Given the description of an element on the screen output the (x, y) to click on. 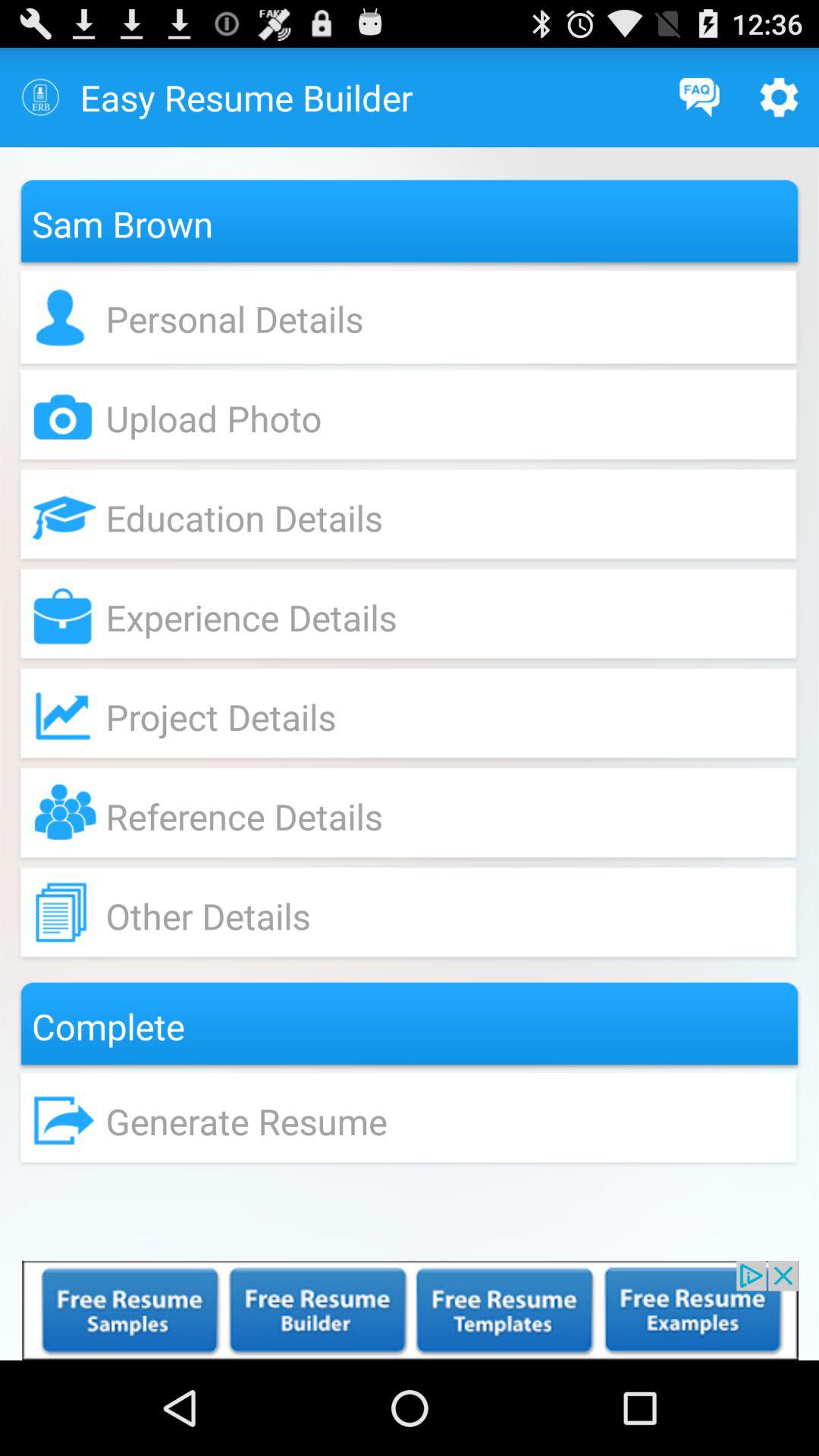
open an advertisement (409, 1310)
